Given the description of an element on the screen output the (x, y) to click on. 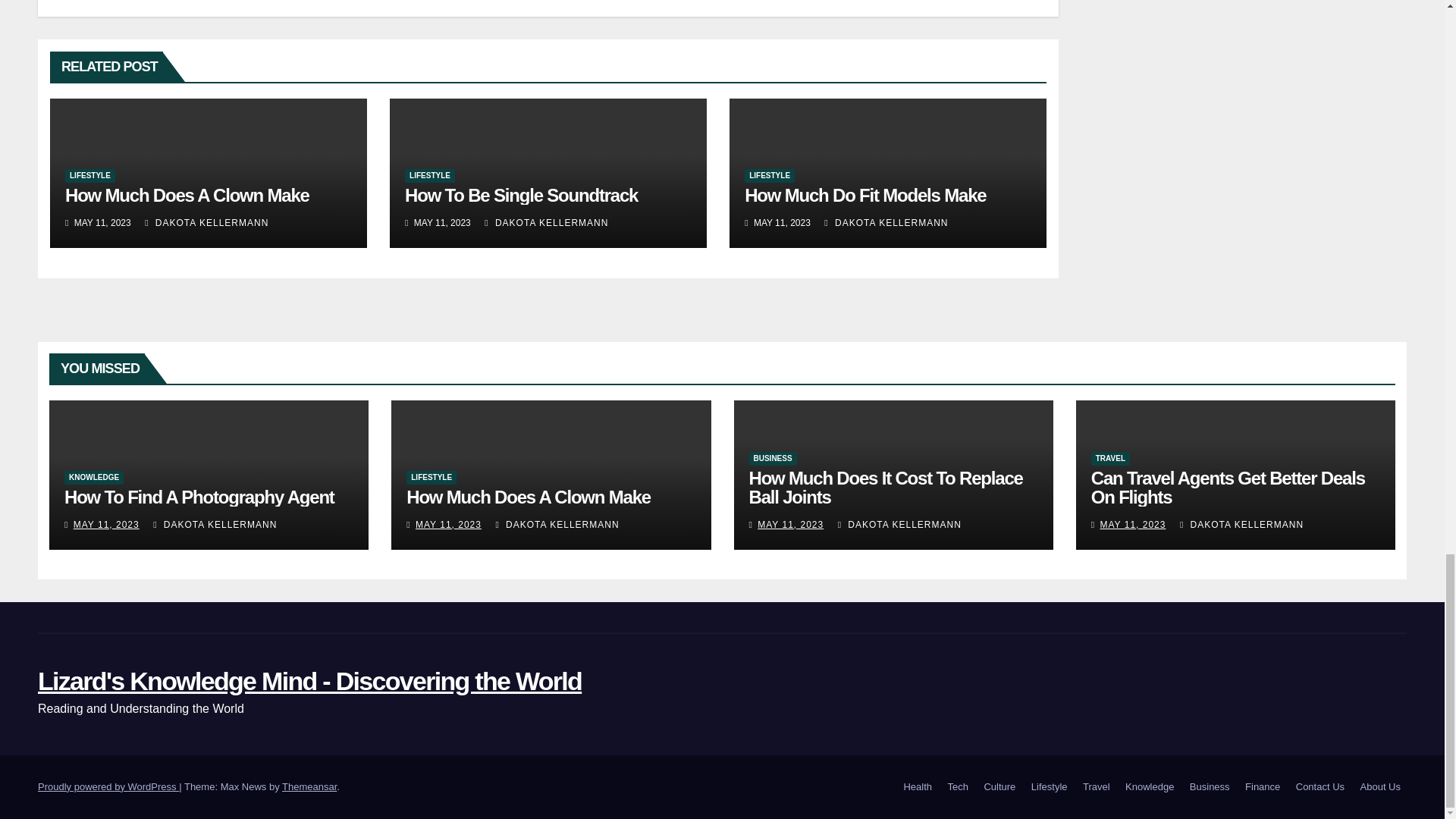
Permalink to: How To Be Single Soundtrack (520, 195)
Permalink to: How Much Does A Clown Make (186, 195)
Permalink to: Can Travel Agents Get Better Deals On Flights (1227, 486)
Health (916, 786)
Permalink to: How Much Do Fit Models Make (864, 195)
Tech (958, 786)
Permalink to: How To Find A Photography Agent (199, 496)
Permalink to: How Much Does It Cost To Replace Ball Joints (886, 486)
Permalink to: How Much Does A Clown Make (528, 496)
